Given the description of an element on the screen output the (x, y) to click on. 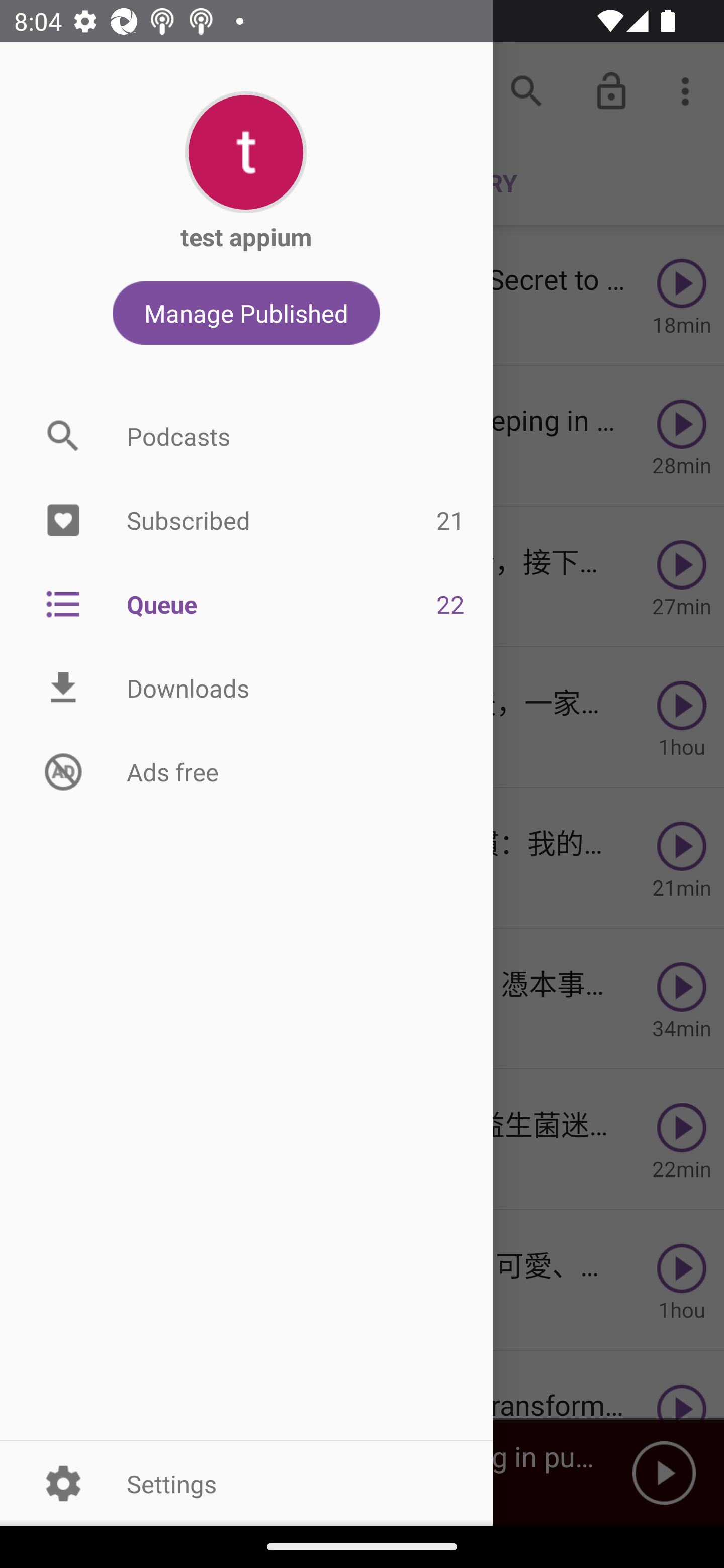
Manage Published (246, 312)
Picture Podcasts (246, 435)
Picture Subscribed 21 (246, 520)
Picture Queue 22 (246, 603)
Picture Downloads (246, 688)
Picture Ads free (246, 771)
Settings Picture Settings (246, 1482)
